Given the description of an element on the screen output the (x, y) to click on. 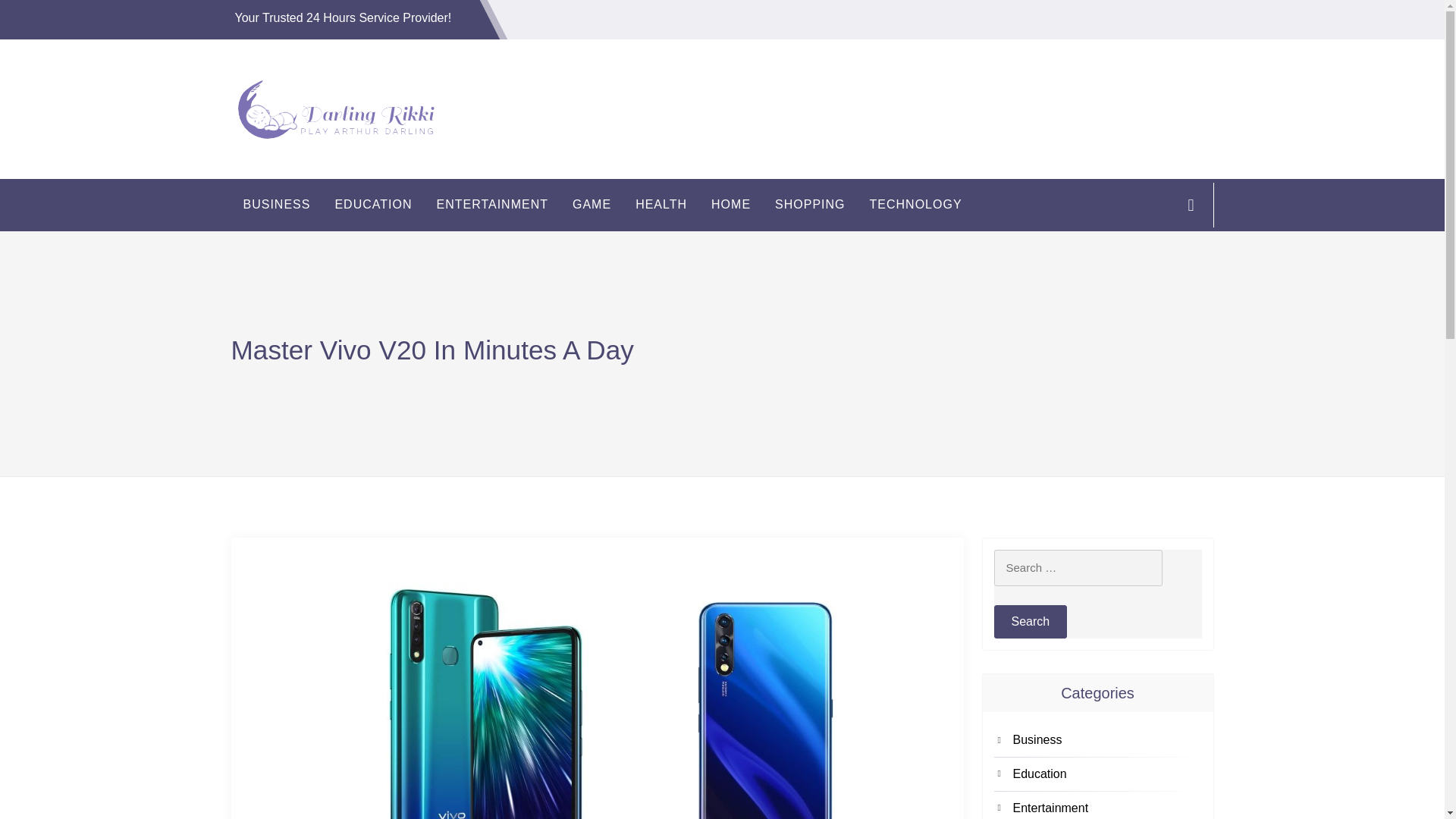
Search (1029, 621)
Business (1107, 740)
SHOPPING (809, 204)
GAME (591, 204)
ENTERTAINMENT (491, 204)
HEALTH (660, 204)
Search (1029, 621)
BUSINESS (275, 204)
Entertainment (1107, 808)
HOME (730, 204)
